Given the description of an element on the screen output the (x, y) to click on. 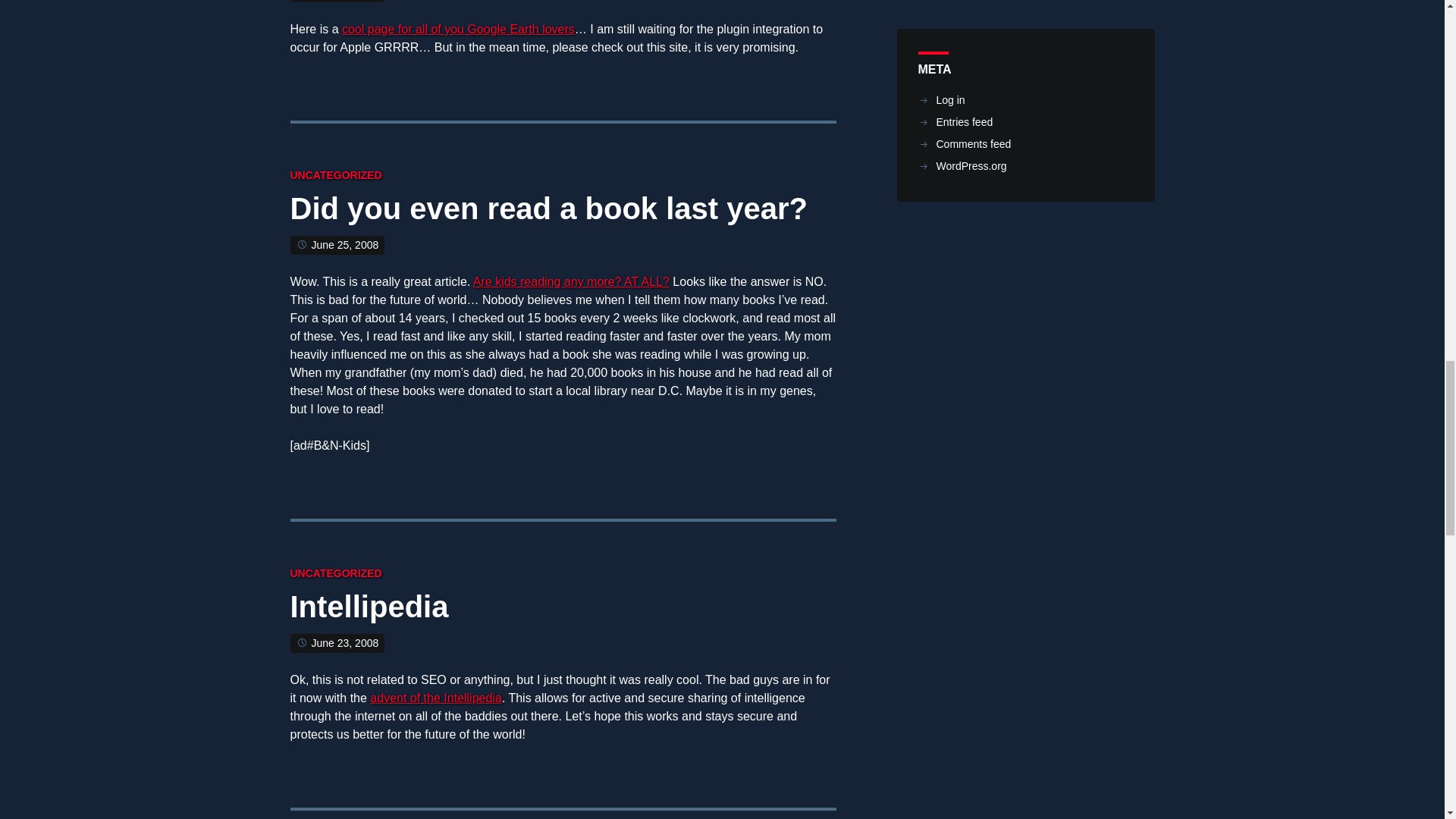
cool page for all of you Google Earth lovers (458, 29)
Did you even read a book last year? (547, 212)
UNCATEGORIZED (335, 573)
June 25, 2008 (344, 244)
advent of the Intellipedia (434, 697)
UNCATEGORIZED (335, 174)
Intellipedia (368, 610)
Are kids reading any more? AT ALL? (571, 281)
June 23, 2008 (344, 643)
